Given the description of an element on the screen output the (x, y) to click on. 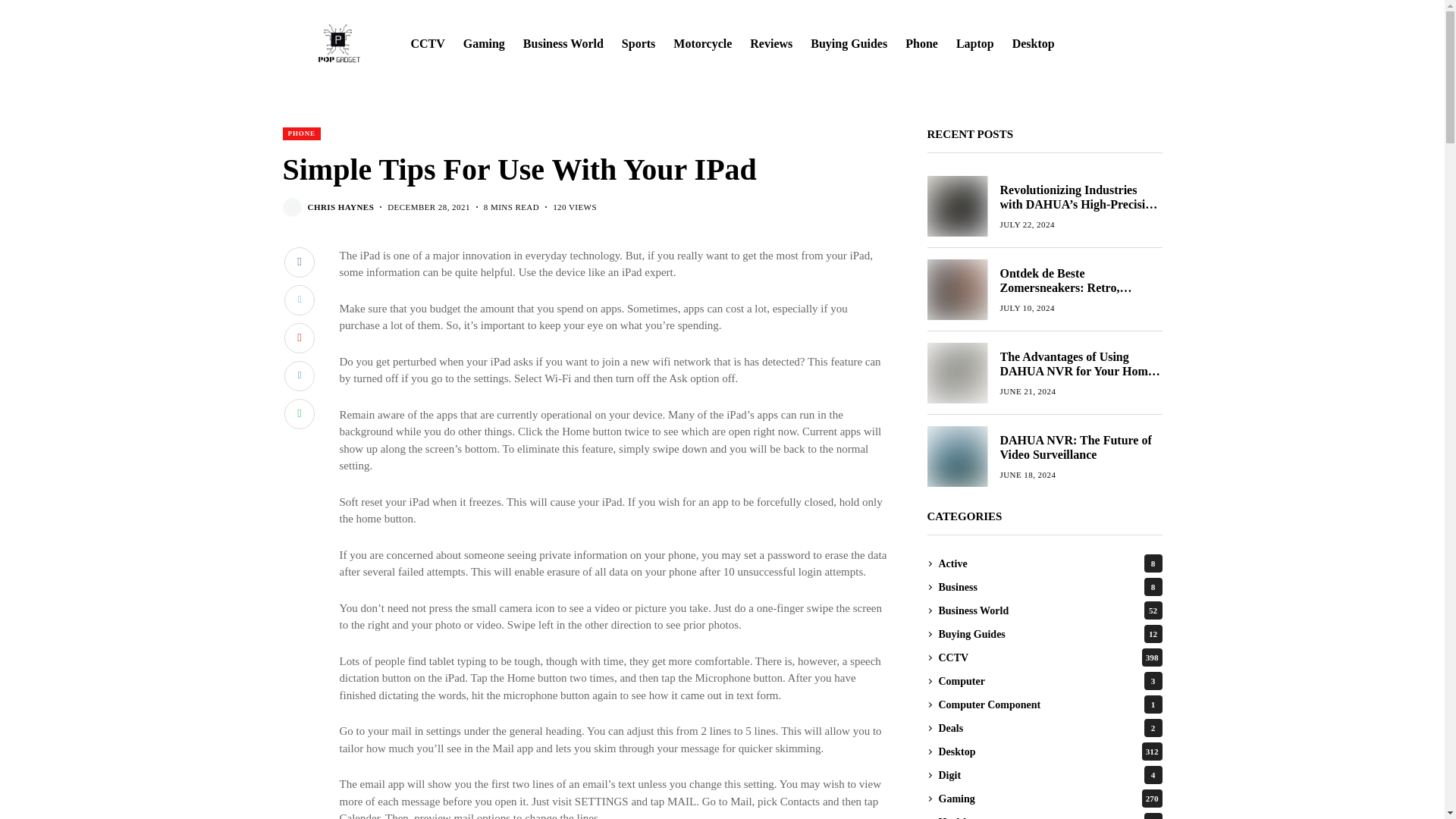
Buying Guides (848, 43)
Posts by Chris Haynes (340, 207)
Business World (563, 43)
The Advantages of Using DAHUA NVR for Your Home Security (956, 373)
Motorcycle (702, 43)
DAHUA NVR: The Future of Video Surveillance (956, 455)
